Given the description of an element on the screen output the (x, y) to click on. 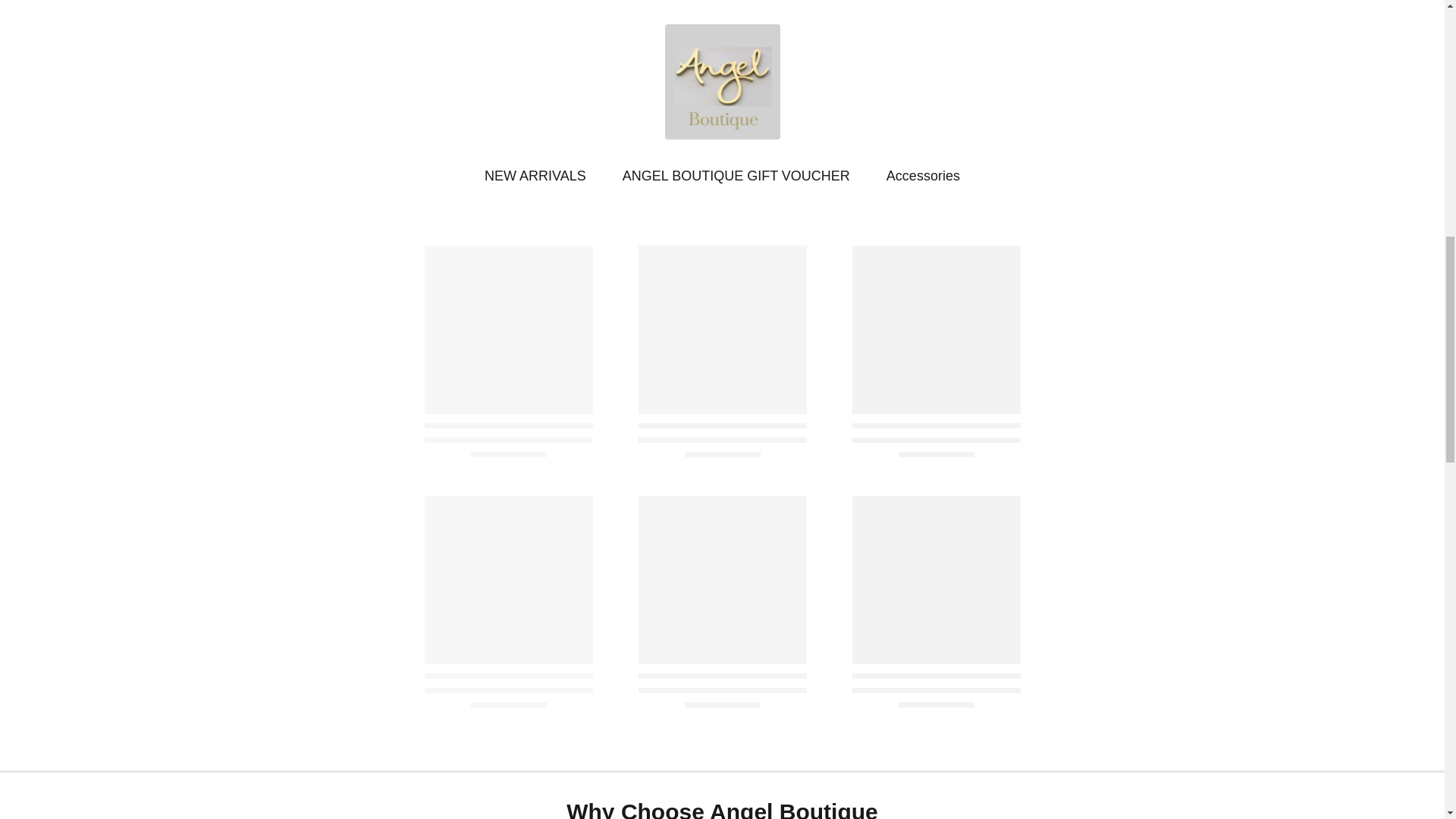
Accessories (922, 175)
NEW ARRIVALS (535, 175)
ANGEL BOUTIQUE GIFT VOUCHER (736, 175)
